Given the description of an element on the screen output the (x, y) to click on. 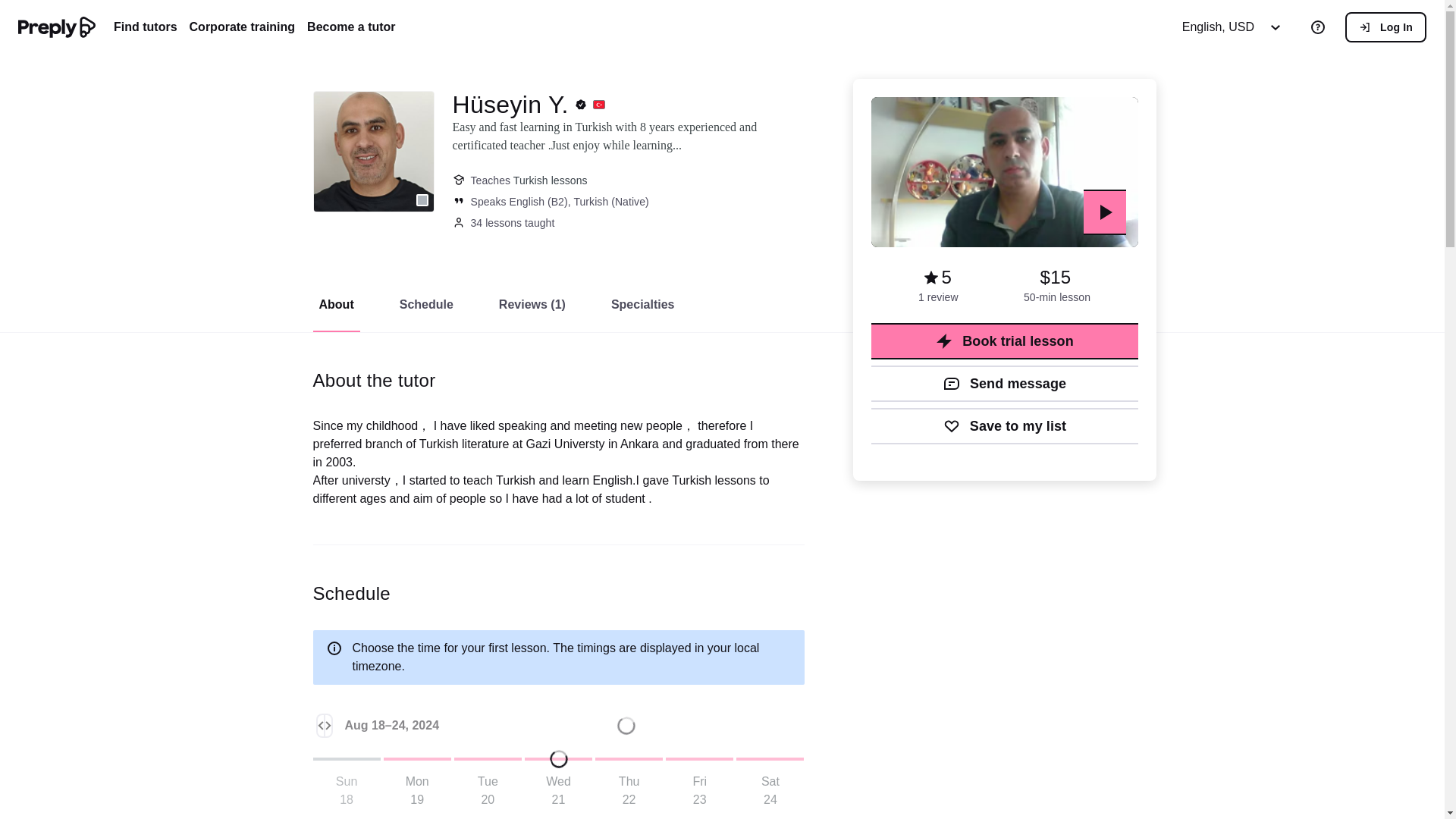
English, USD (1236, 27)
Become a tutor (350, 27)
Find tutors (145, 27)
Corporate training (242, 27)
Log In (1385, 27)
